Given the description of an element on the screen output the (x, y) to click on. 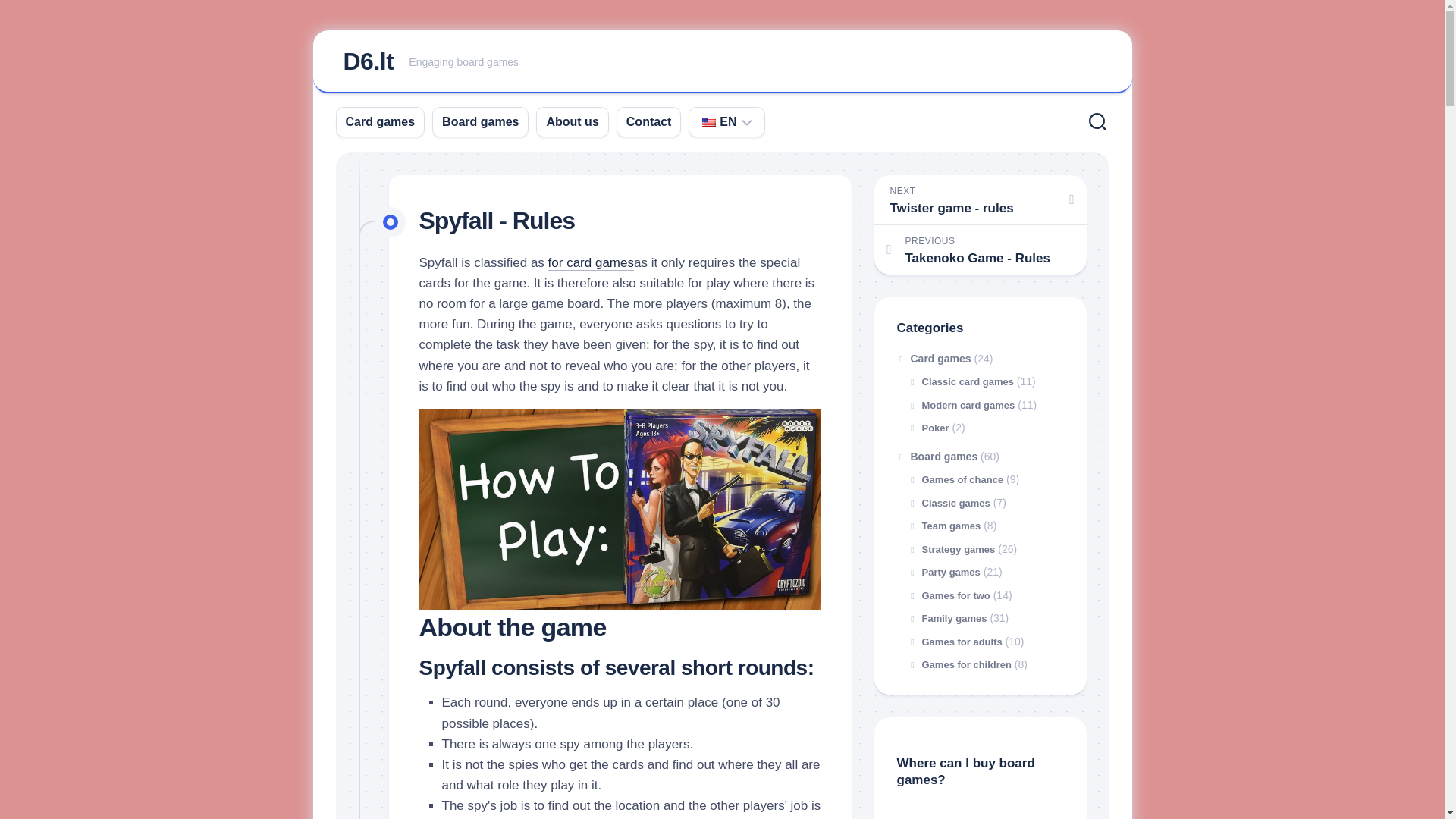
About us (572, 121)
Contact (648, 121)
for card games (590, 262)
English (708, 121)
Board games (722, 62)
EN (480, 121)
D6.lt (717, 121)
Card games (367, 61)
